Given the description of an element on the screen output the (x, y) to click on. 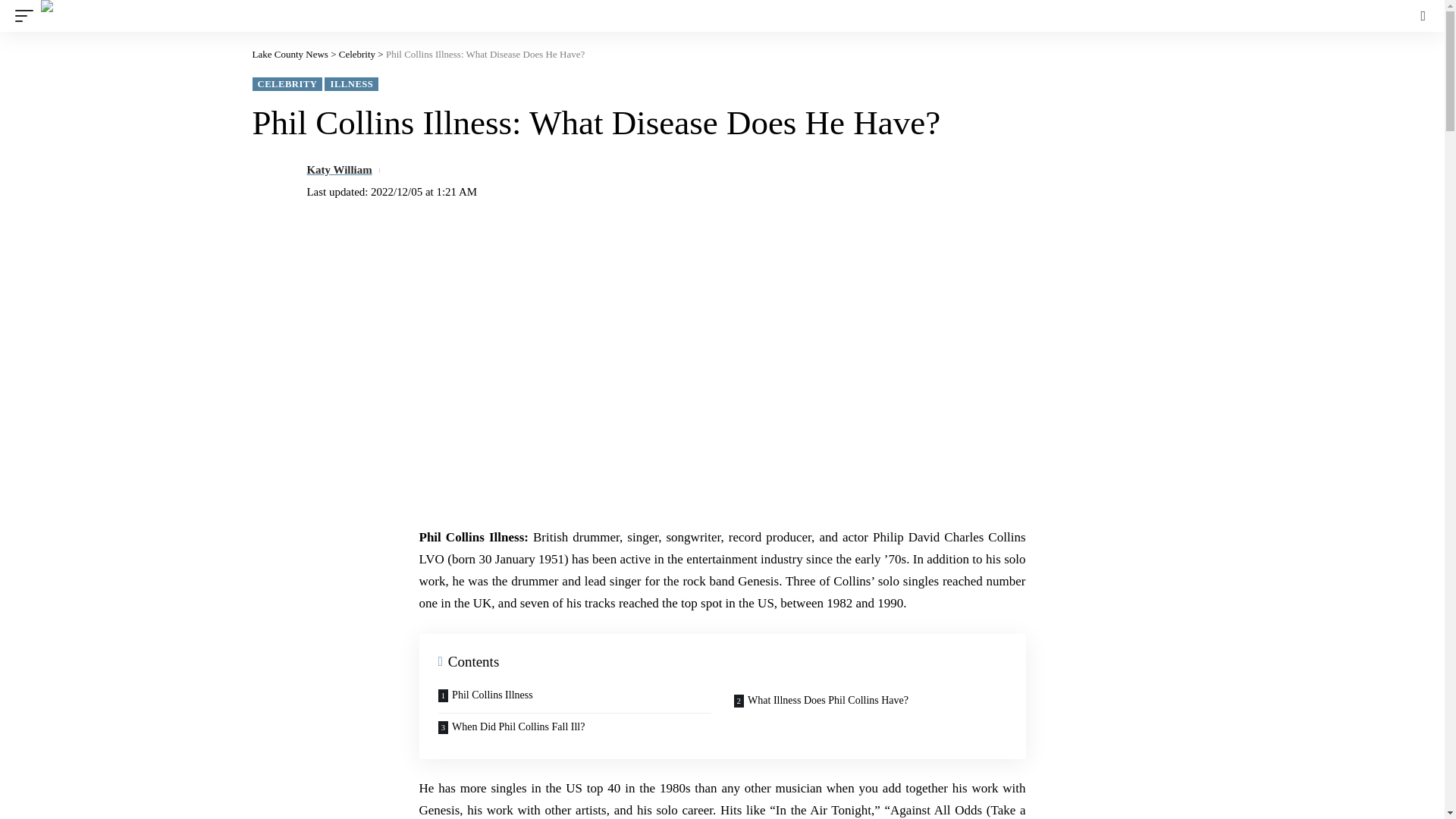
Go to Lake County News. (289, 53)
Phil Collins Illness (574, 700)
Katy William (338, 169)
ILLNESS (351, 83)
Lake County News (289, 53)
What Illness Does Phil Collins Have? (869, 700)
Lake County News (325, 15)
Celebrity (357, 53)
CELEBRITY (286, 83)
Go to the Celebrity Category archives. (357, 53)
